Given the description of an element on the screen output the (x, y) to click on. 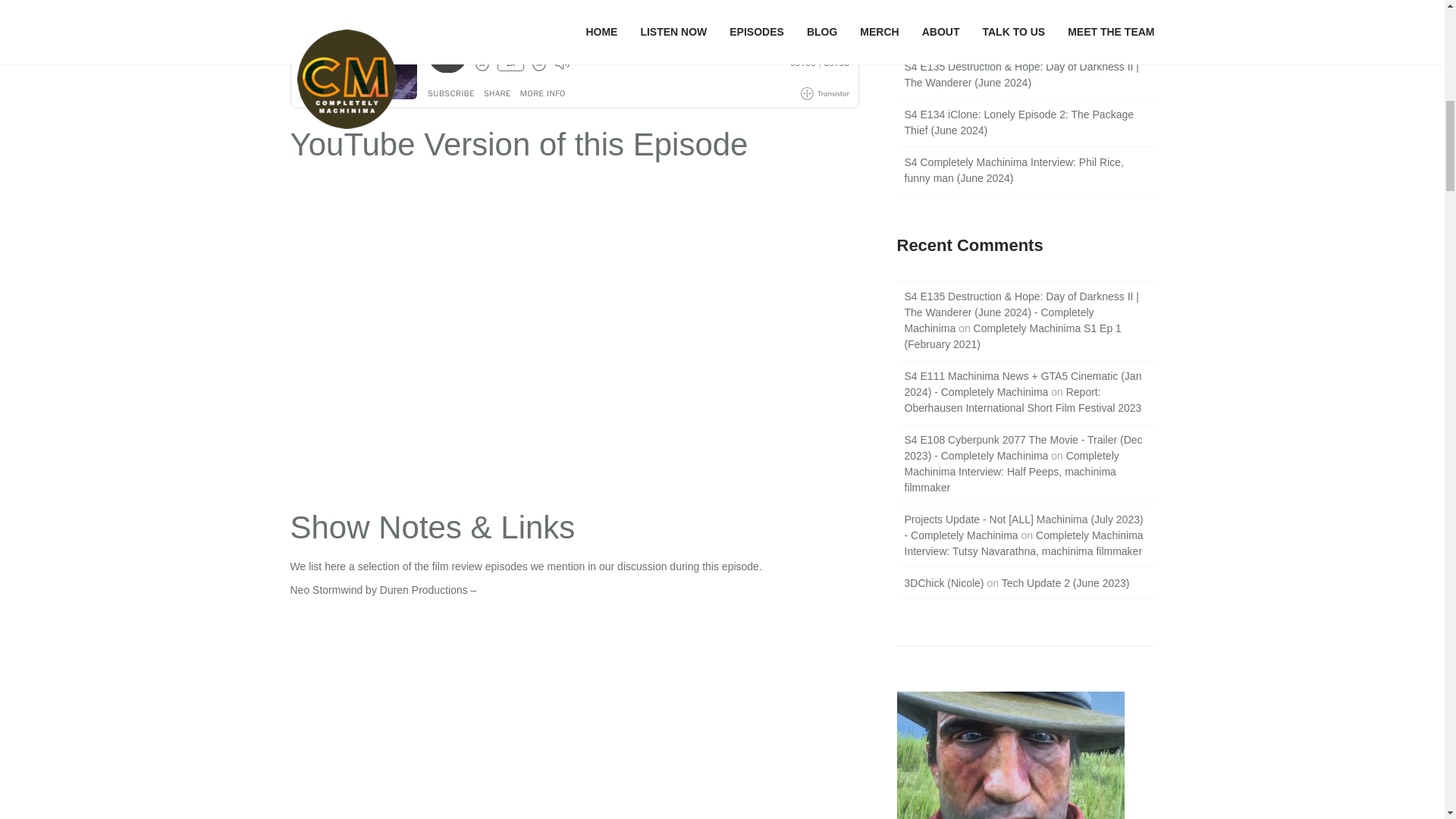
Report: Oberhausen International Short Film Festival 2023 (1022, 399)
